Given the description of an element on the screen output the (x, y) to click on. 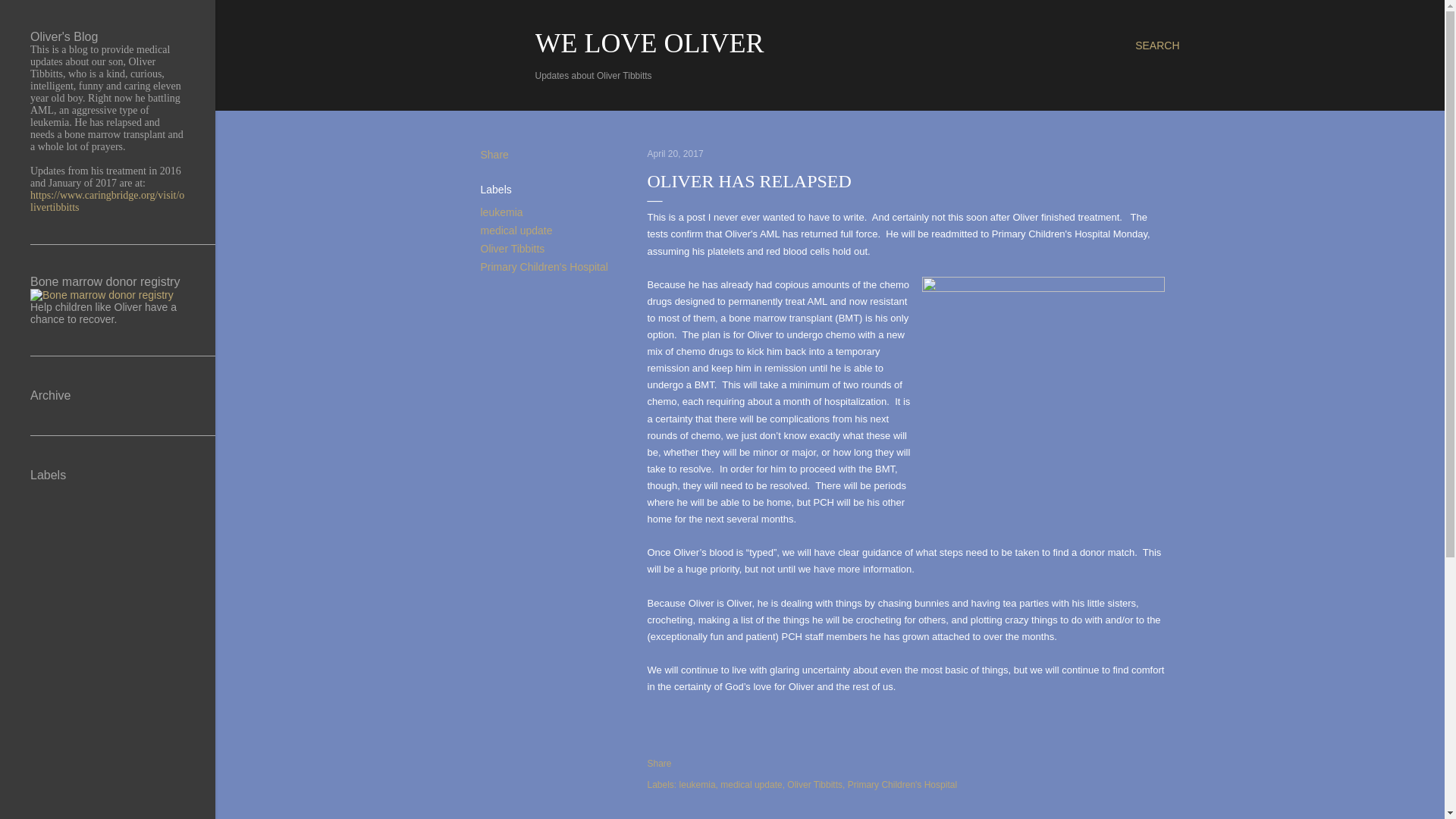
Primary Children's Hospital (544, 266)
leukemia (501, 212)
SEARCH (1157, 45)
permanent link (675, 153)
WE LOVE OLIVER (649, 42)
Share (659, 763)
Primary Children's Hospital (901, 784)
April 20, 2017 (675, 153)
medical update (752, 784)
Share (494, 154)
Oliver Tibbitts (815, 784)
medical update (516, 230)
leukemia (698, 784)
Oliver Tibbitts (512, 248)
